Given the description of an element on the screen output the (x, y) to click on. 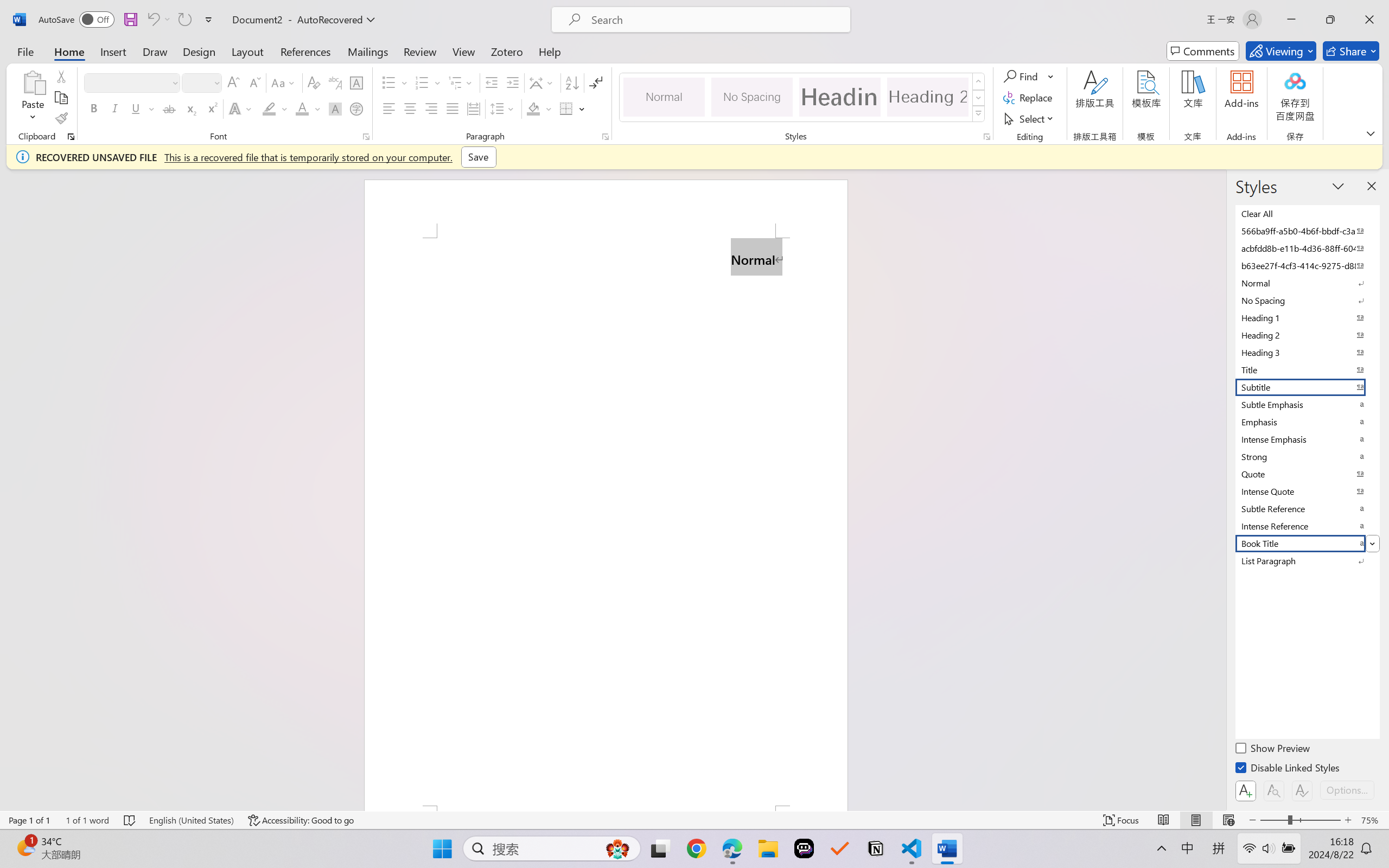
Shading (539, 108)
Zoom 75% (1372, 819)
Change Case (284, 82)
Can't Repeat (184, 19)
Increase Indent (512, 82)
Title (1306, 369)
Subtle Emphasis (1306, 404)
